Given the description of an element on the screen output the (x, y) to click on. 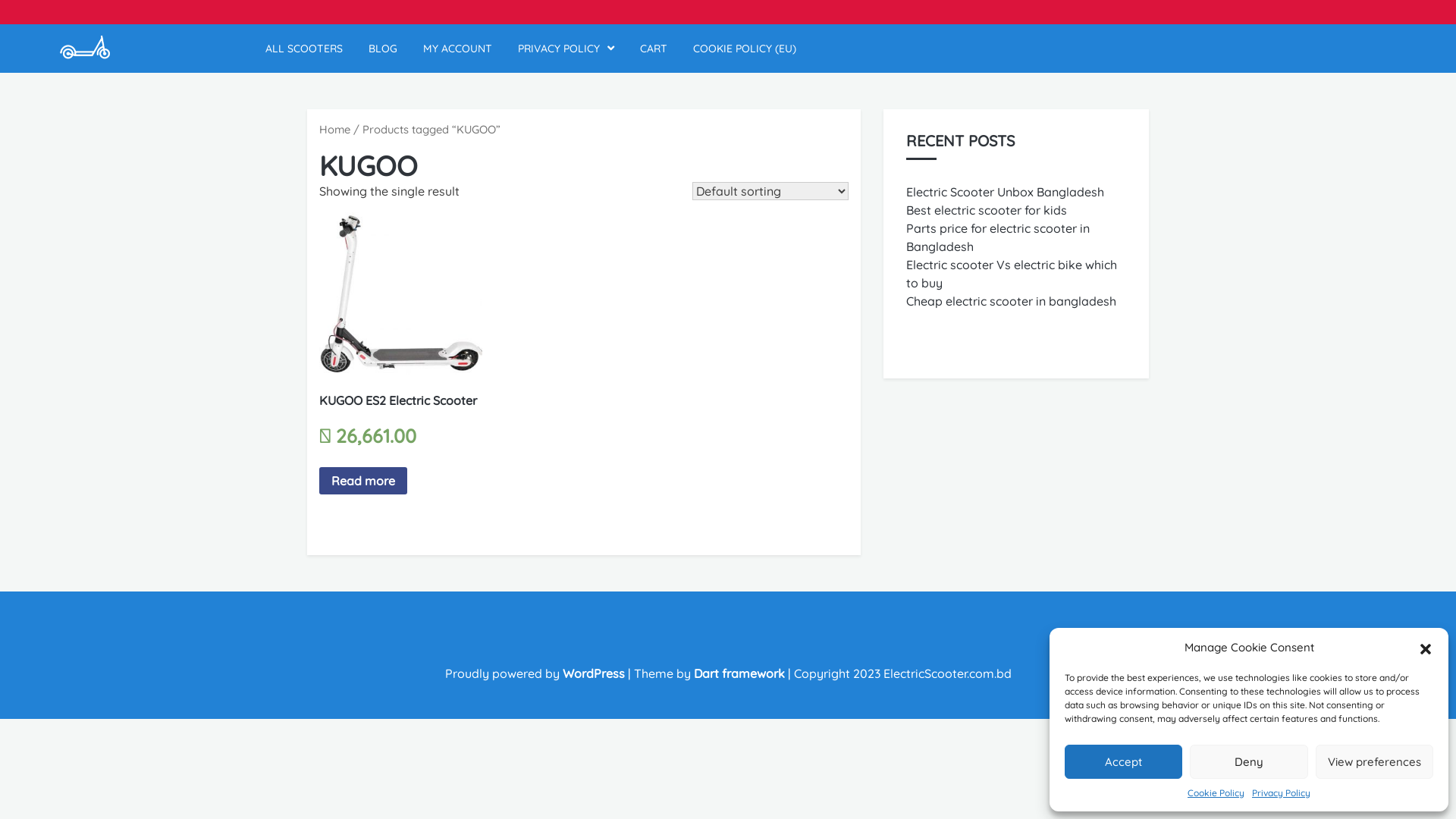
COOKIE POLICY (EU) Element type: text (744, 48)
View preferences Element type: text (1374, 761)
Electric Scooter Unbox Bangladesh Element type: text (1005, 191)
Home Element type: text (334, 129)
ALL SCOOTERS Element type: text (303, 48)
Cookie Policy Element type: text (1215, 793)
Accept Element type: text (1123, 761)
Dart framework Element type: text (738, 672)
Read more Element type: text (363, 480)
Best electric scooter for kids Element type: text (986, 209)
MY ACCOUNT Element type: text (457, 48)
Cheap electric scooter in bangladesh Element type: text (1011, 300)
CART Element type: text (653, 48)
BLOG Element type: text (382, 48)
Deny Element type: text (1248, 761)
Electric scooter Vs electric bike which to buy Element type: text (1011, 273)
PRIVACY POLICY Element type: text (565, 48)
Parts price for electric scooter in Bangladesh Element type: text (997, 237)
Privacy Policy Element type: text (1281, 793)
